Given the description of an element on the screen output the (x, y) to click on. 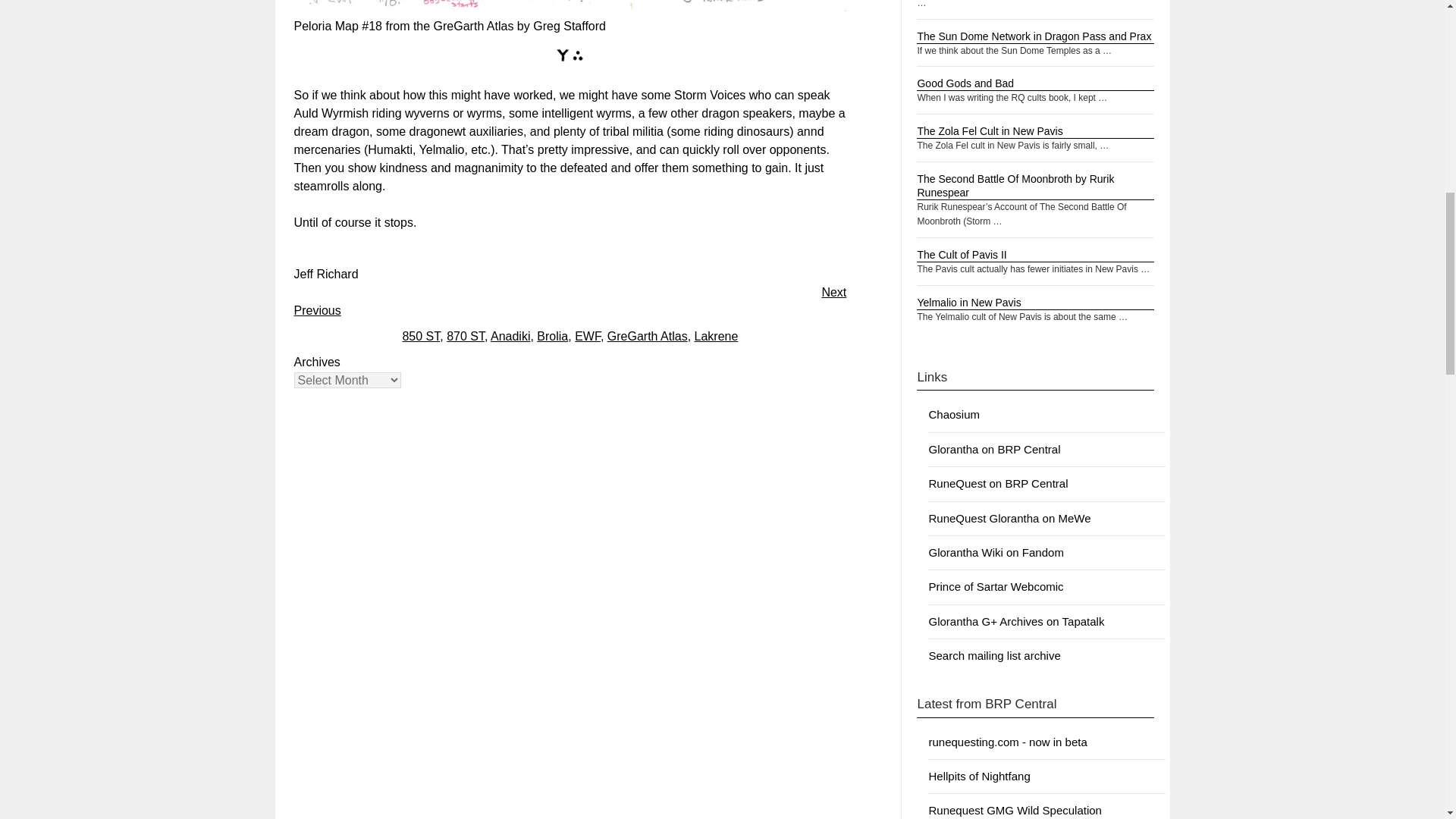
The Zola Fel Cult in New Pavis (989, 131)
Good Gods and Bad (965, 82)
GreGarth Atlas (647, 336)
Yelmalio in New Pavis (968, 302)
870 ST (465, 336)
The Cult of Pavis II (961, 254)
Glorantha on BRP Central (993, 449)
EWF (587, 336)
Next (833, 291)
RuneQuest Glorantha on MeWe (1009, 517)
Chaosium (953, 413)
Lakrene (716, 336)
Anadiki (509, 336)
RuneQuest on BRP Central (997, 482)
Previous (317, 309)
